Given the description of an element on the screen output the (x, y) to click on. 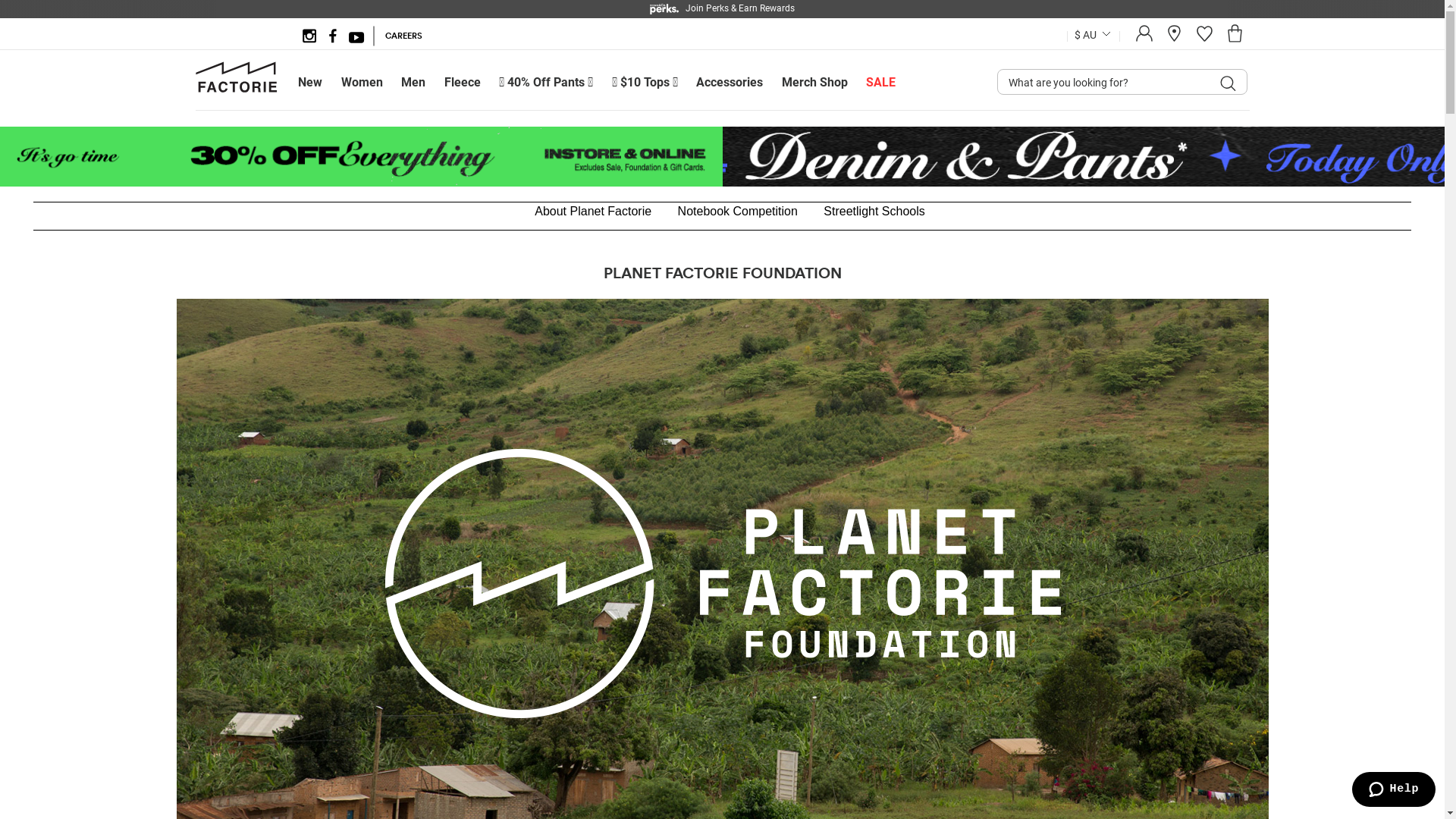
Streetlight Schools Element type: text (873, 211)
Free returns In-store & Online Element type: text (722, 7)
New Element type: text (310, 86)
View Wishlist Element type: hover (1204, 38)
$ AU Element type: text (1084, 36)
Go to Factorie Element type: hover (238, 89)
Accessories Element type: text (729, 86)
Men Element type: text (413, 86)
Sign Me In / Register Element type: hover (1143, 38)
Locate Stores Element type: hover (1173, 38)
Fleece Element type: text (462, 86)
Search Element type: text (1227, 83)
Opens a widget where you can find more information Element type: hover (1393, 790)
About Planet Factorie Element type: text (592, 211)
Notebook Competition Element type: text (737, 211)
CAREERS Element type: text (403, 35)
SALE Element type: text (880, 86)
View Cart Element type: hover (1234, 38)
Women Element type: text (361, 86)
Merch Shop Element type: text (814, 86)
